Given the description of an element on the screen output the (x, y) to click on. 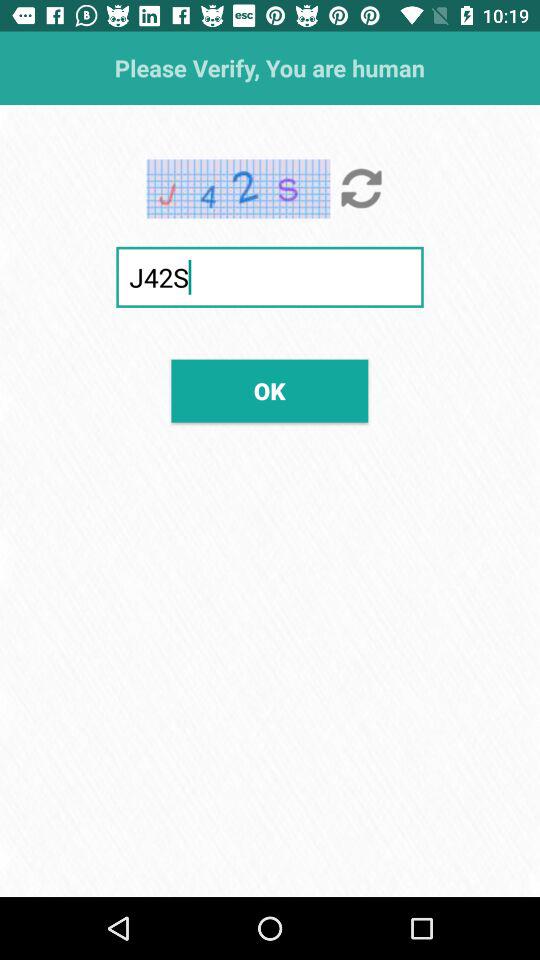
turn on icon below the please verify you item (361, 188)
